Given the description of an element on the screen output the (x, y) to click on. 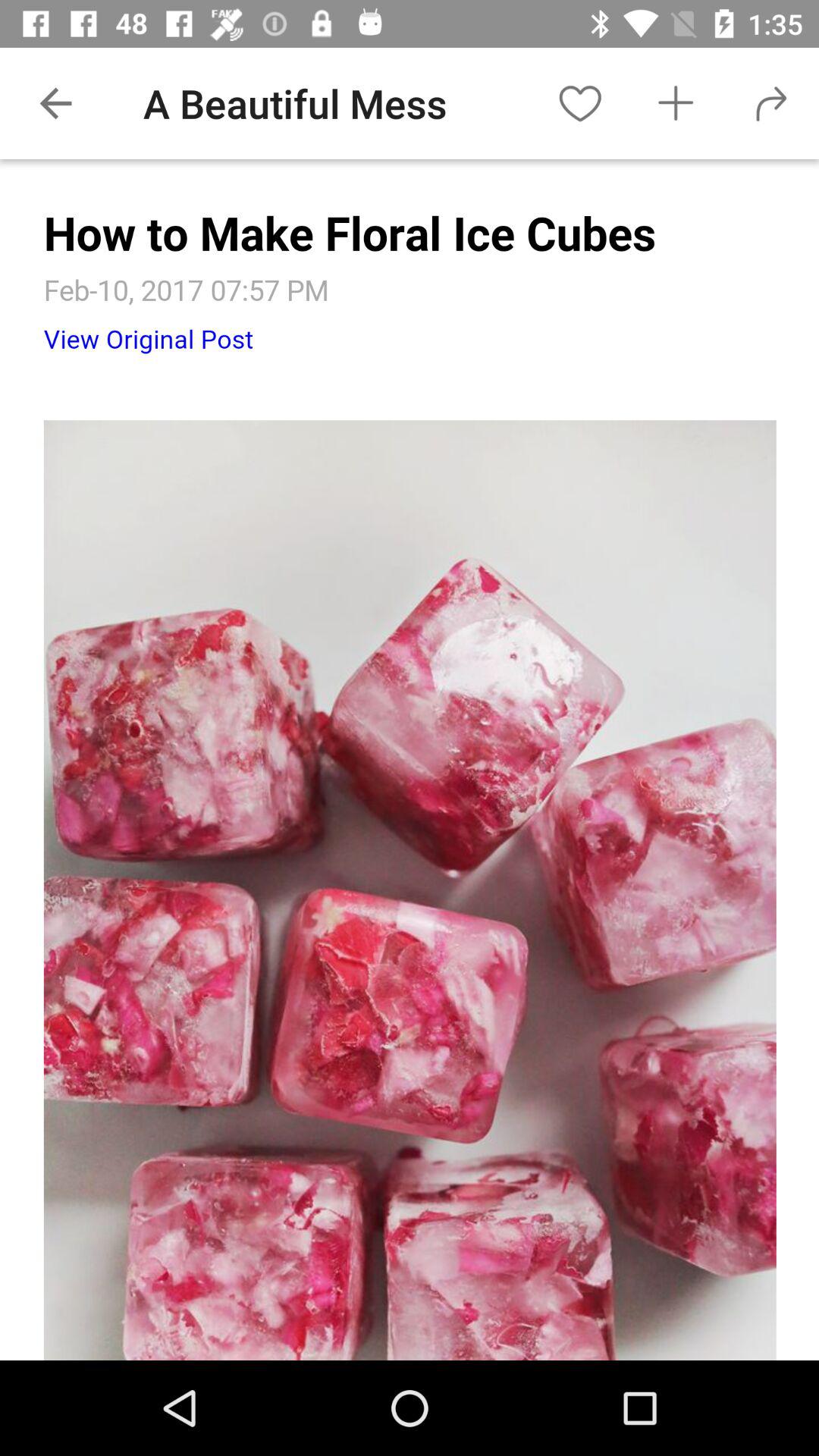
expand the article (409, 759)
